Given the description of an element on the screen output the (x, y) to click on. 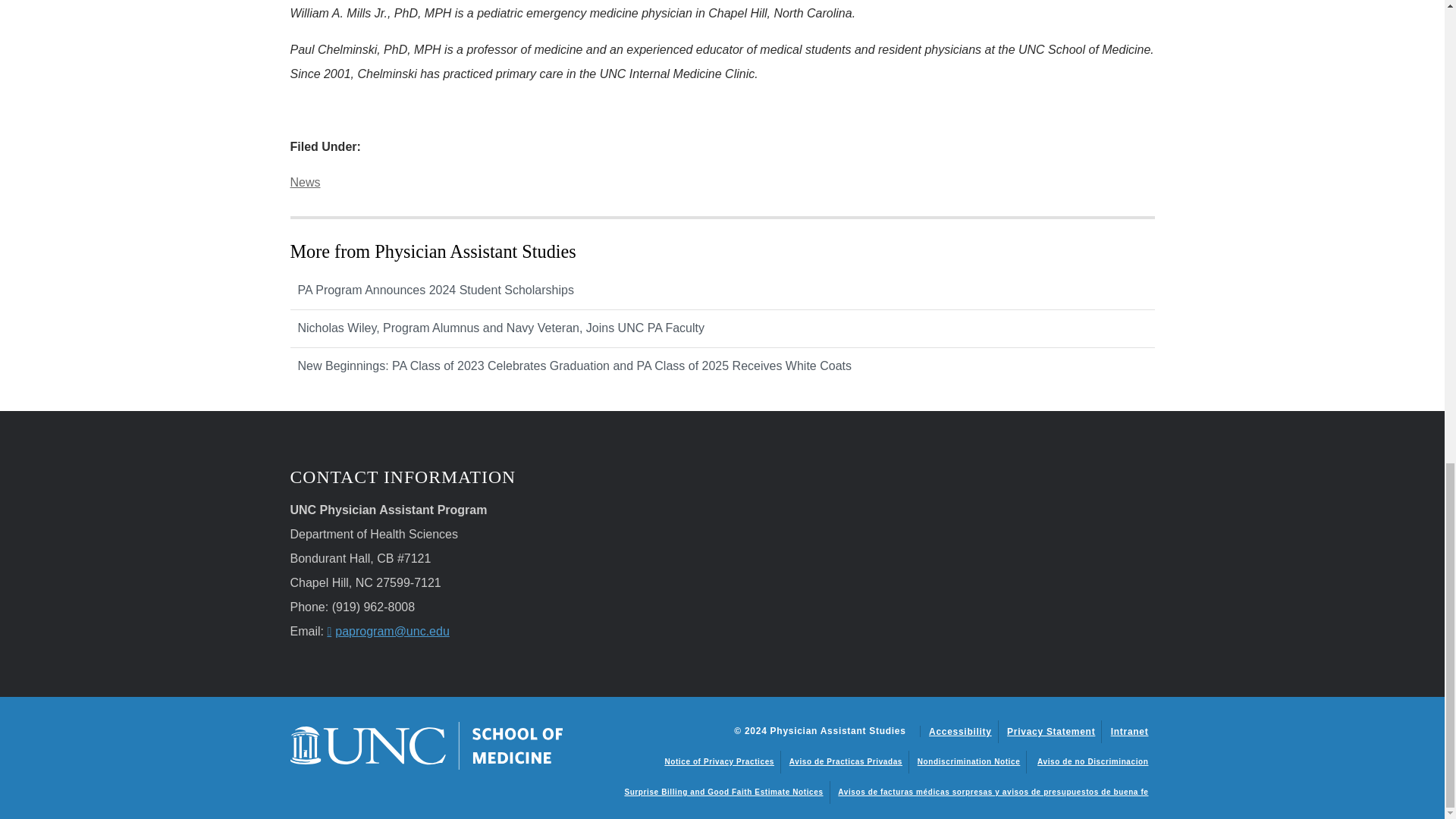
Accessibility (959, 731)
UNC School of Medicine (425, 744)
News (304, 182)
PA Program Announces 2024 Student Scholarships (721, 290)
PA Program Announces 2024 Student Scholarships (721, 290)
